Given the description of an element on the screen output the (x, y) to click on. 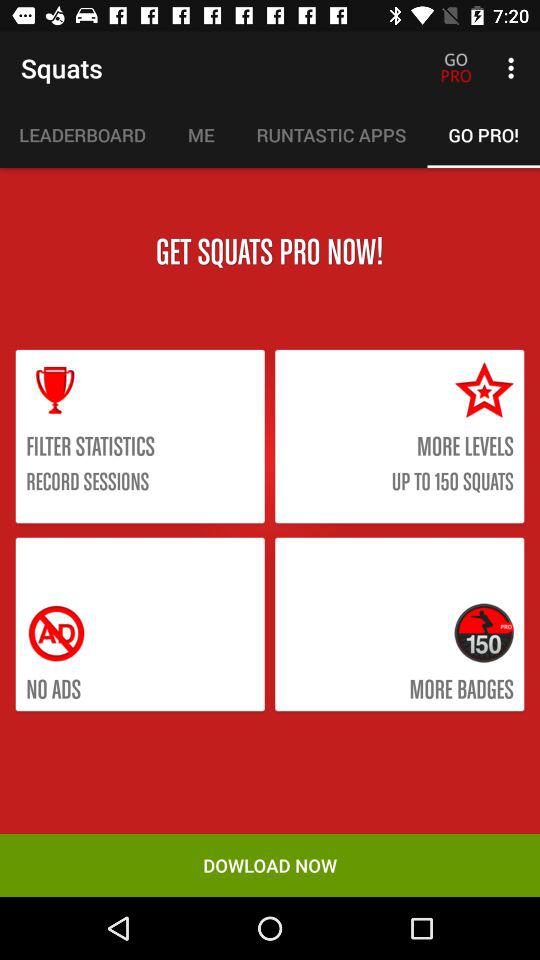
tap the item to the left of the runtastic apps icon (200, 135)
